Given the description of an element on the screen output the (x, y) to click on. 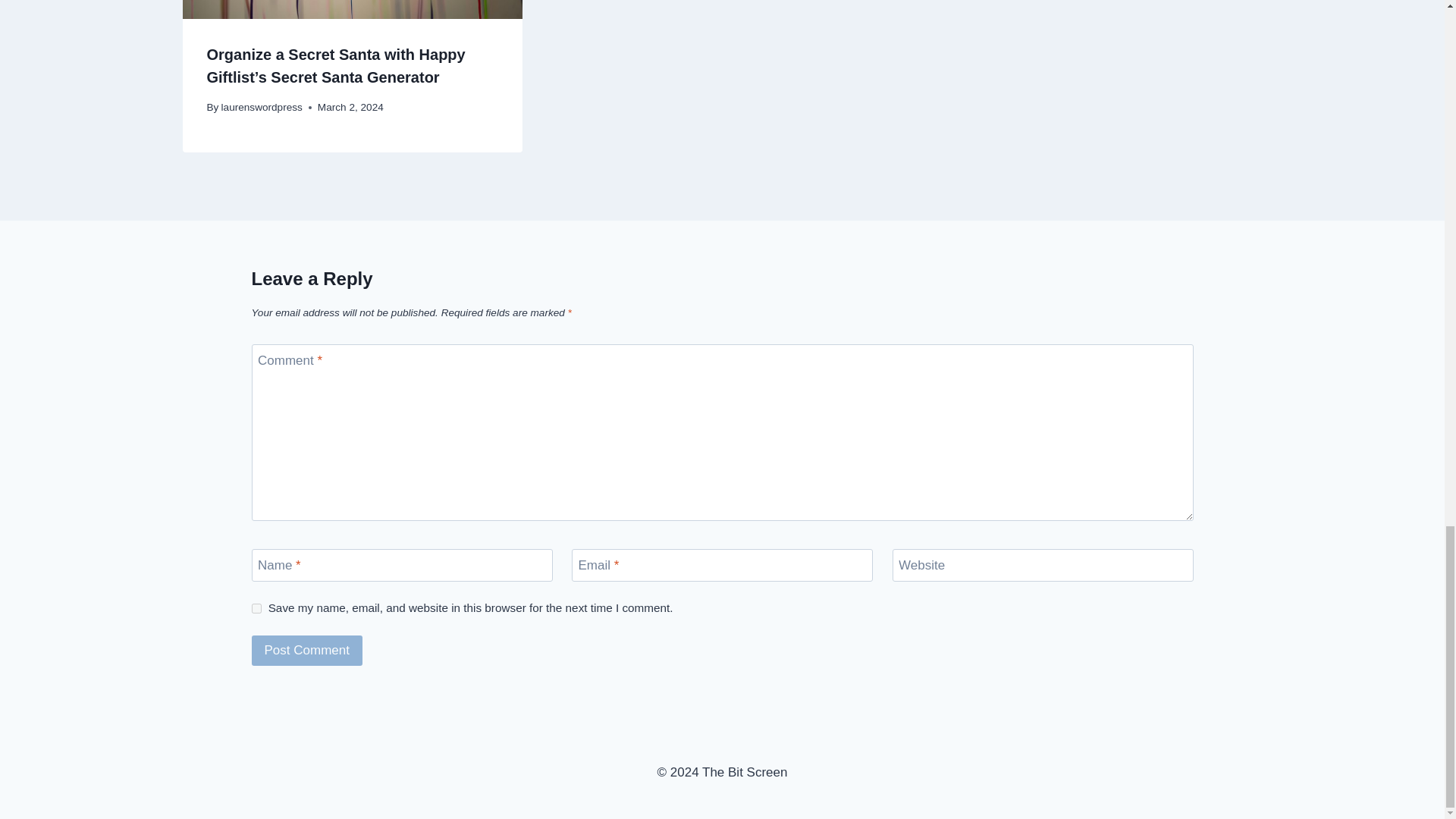
laurenswordpress (261, 107)
Post Comment (306, 650)
yes (256, 608)
Post Comment (306, 650)
